Given the description of an element on the screen output the (x, y) to click on. 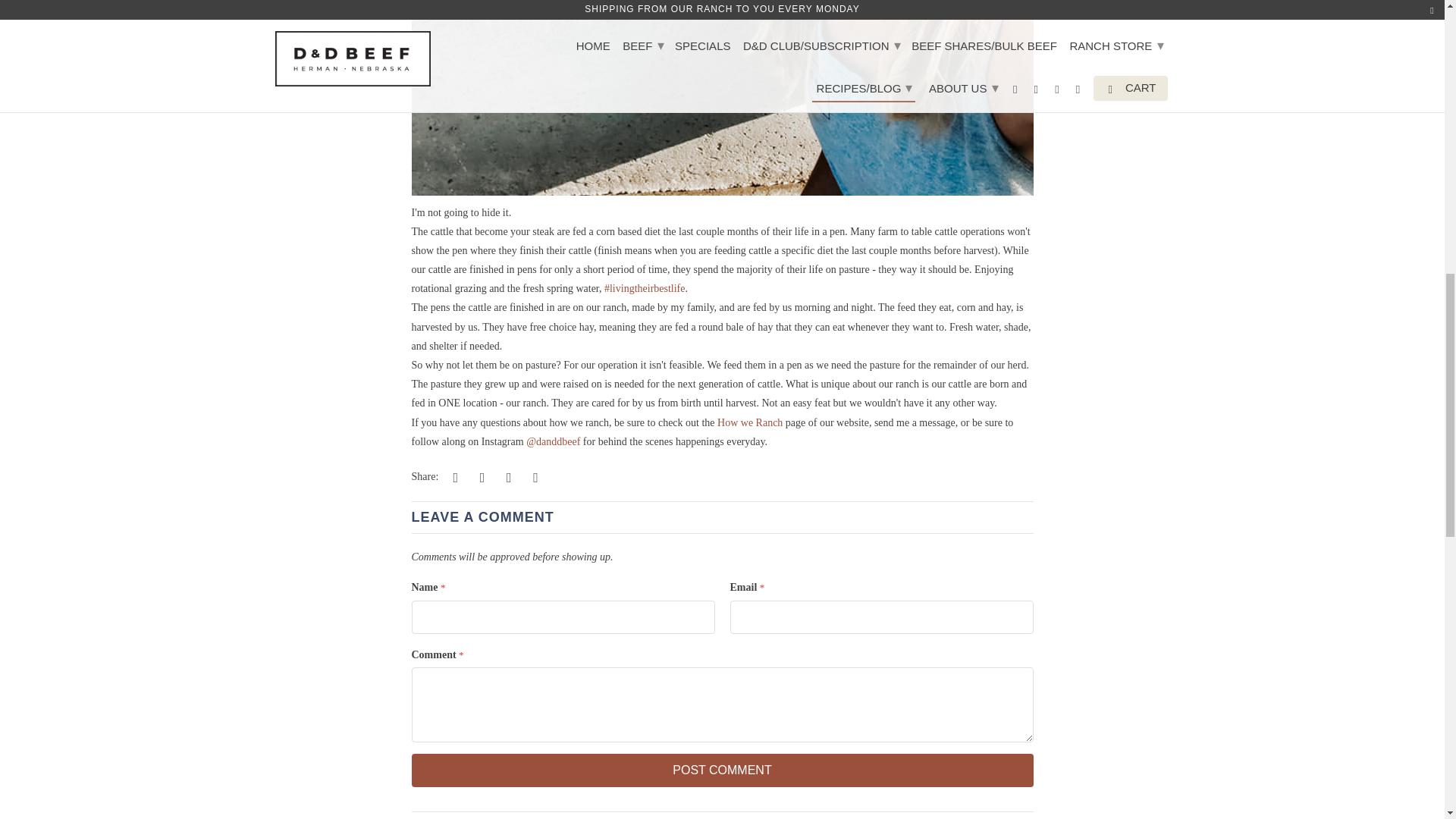
Post comment (721, 770)
Share this on Twitter (453, 476)
Share this on Pinterest (506, 476)
Email this to a friend (533, 476)
Share this on Facebook (479, 476)
